Given the description of an element on the screen output the (x, y) to click on. 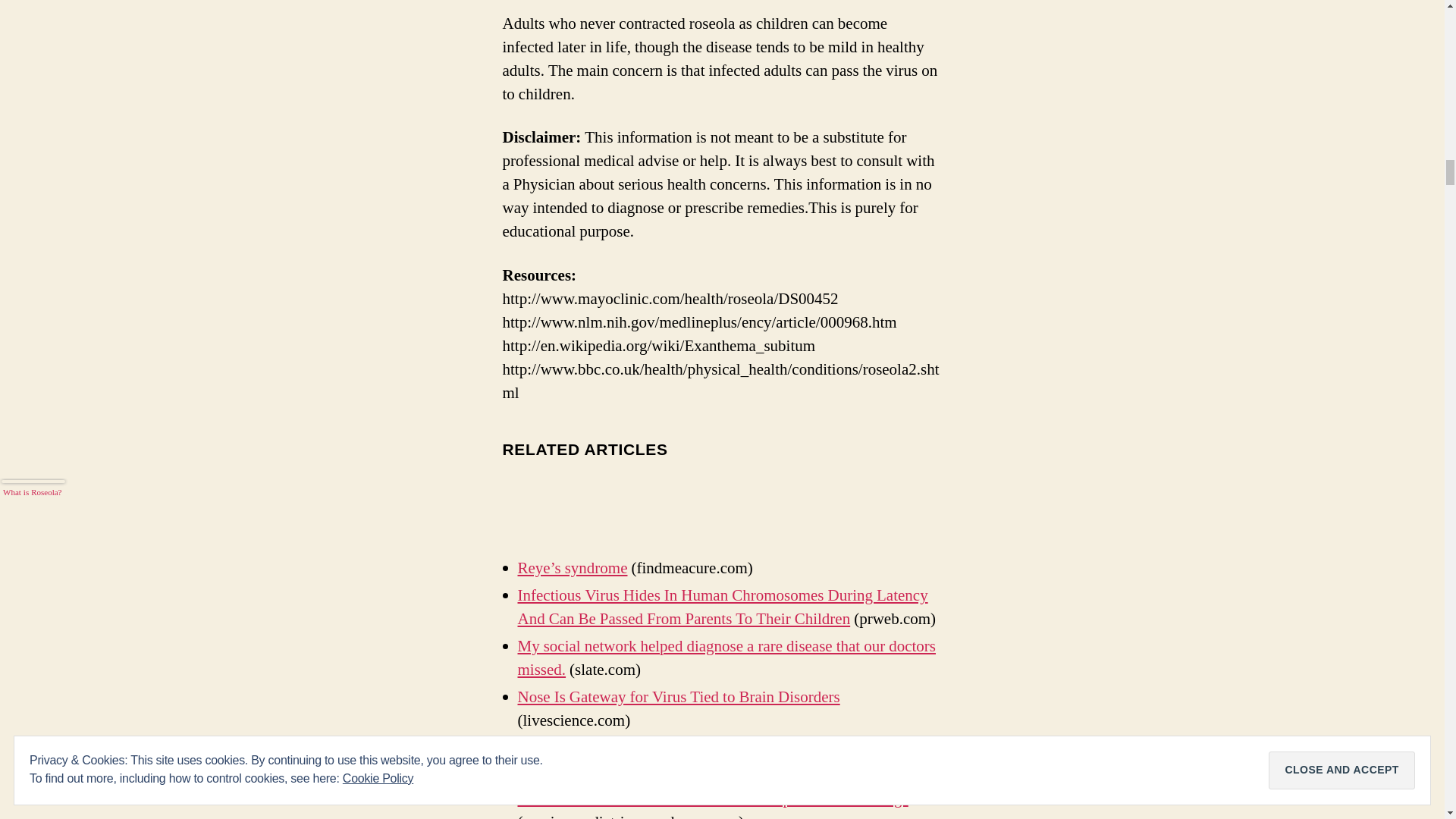
Nose Is Gateway for Virus Tied to Brain Disorders (678, 697)
What is Roseola? (33, 514)
